Given the description of an element on the screen output the (x, y) to click on. 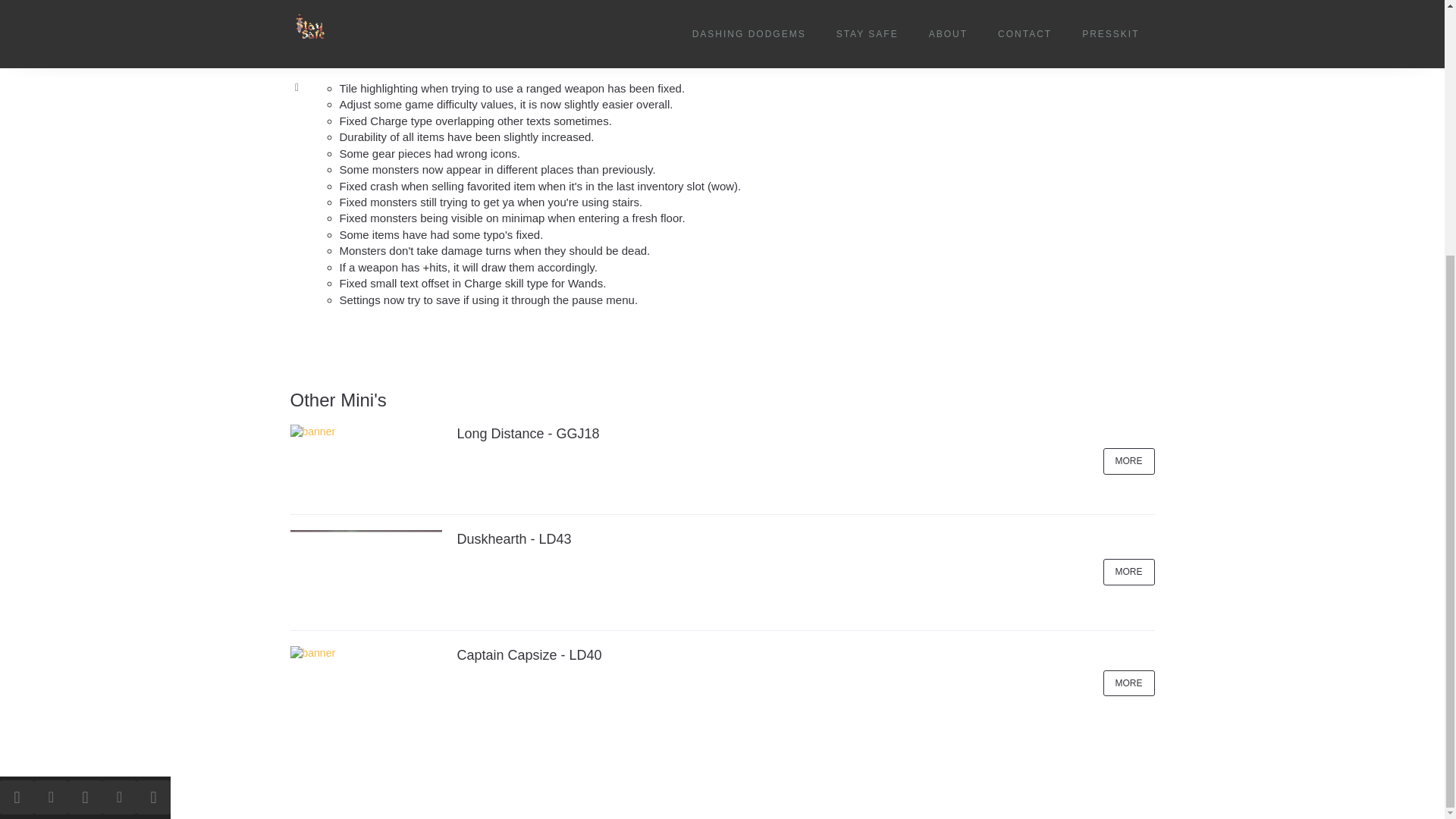
MORE (1128, 683)
MORE (1128, 461)
MORE (1128, 571)
Duskhearth - LD43 (513, 539)
Long Distance - GGJ18 (527, 433)
Captain Capsize - LD40 (529, 654)
